Given the description of an element on the screen output the (x, y) to click on. 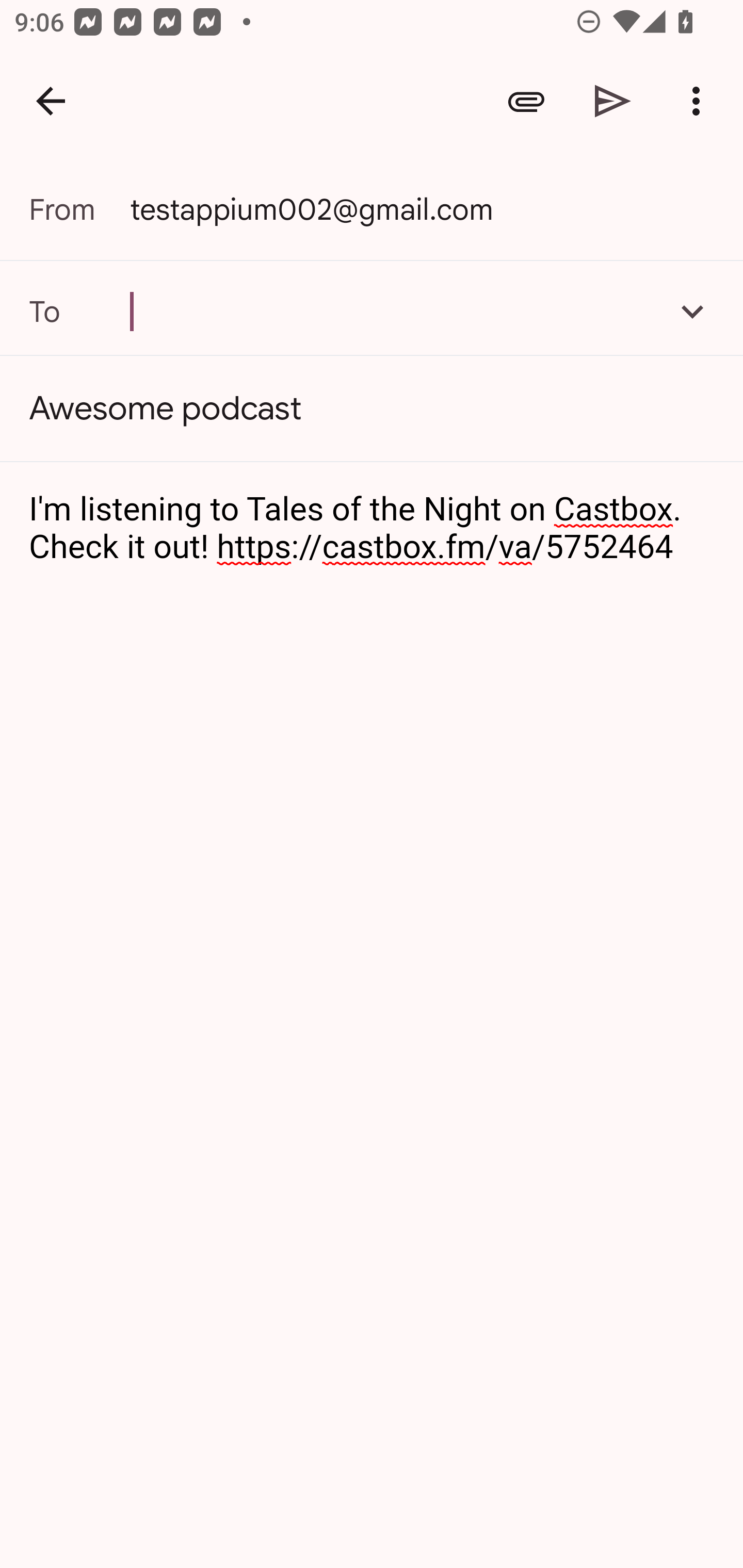
Navigate up (50, 101)
Attach file (525, 101)
Send (612, 101)
More options (699, 101)
From (79, 209)
Add Cc/Bcc (692, 311)
Awesome podcast (371, 407)
